Given the description of an element on the screen output the (x, y) to click on. 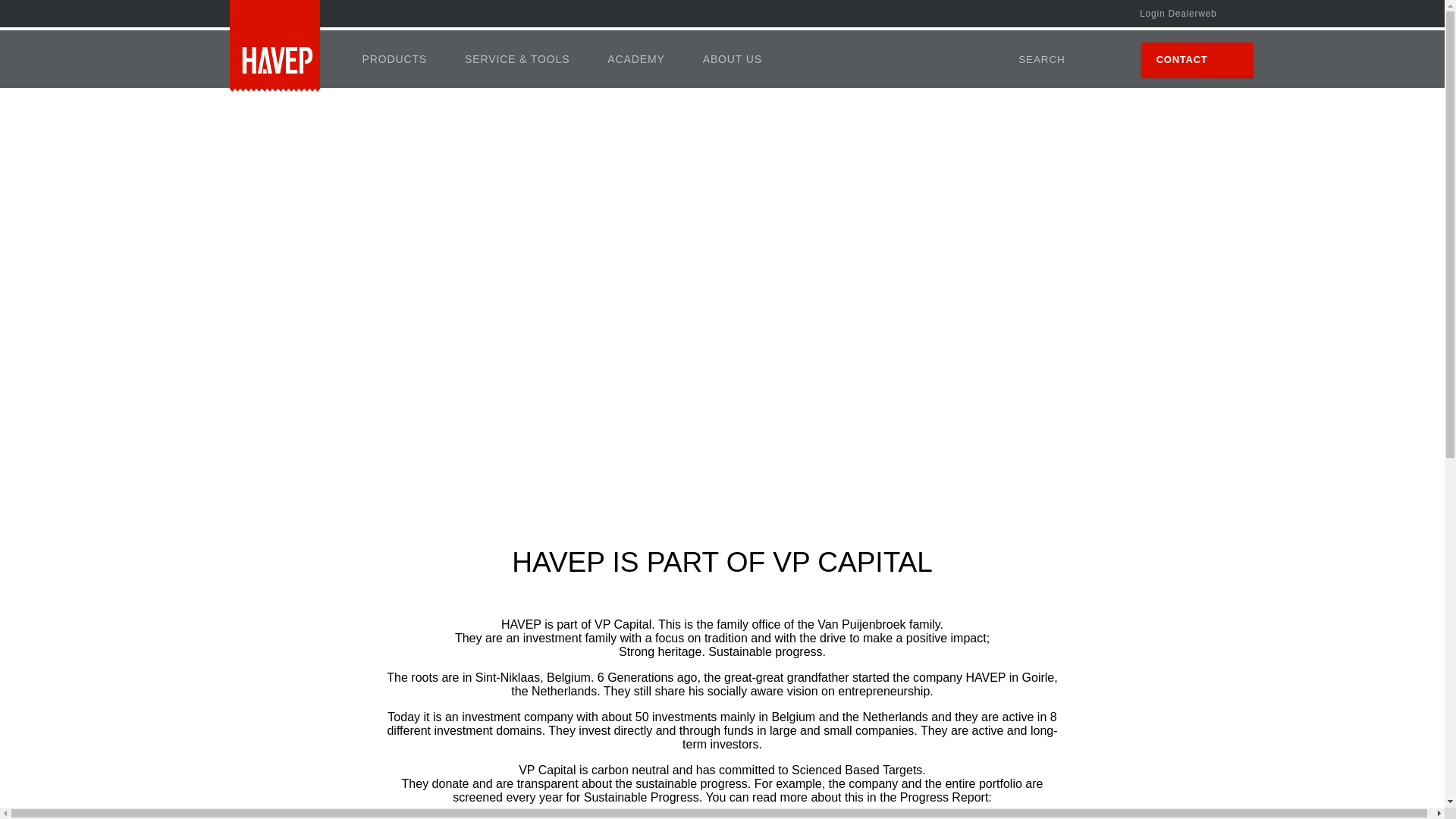
Search (1027, 58)
Products (393, 58)
HAVEP logo (273, 45)
PRODUCTS (393, 58)
ABOUT US (732, 58)
Homepage (273, 47)
About us (732, 58)
Login Dealerweb (1182, 13)
HAVEP logo (273, 47)
Academy (635, 58)
